Given the description of an element on the screen output the (x, y) to click on. 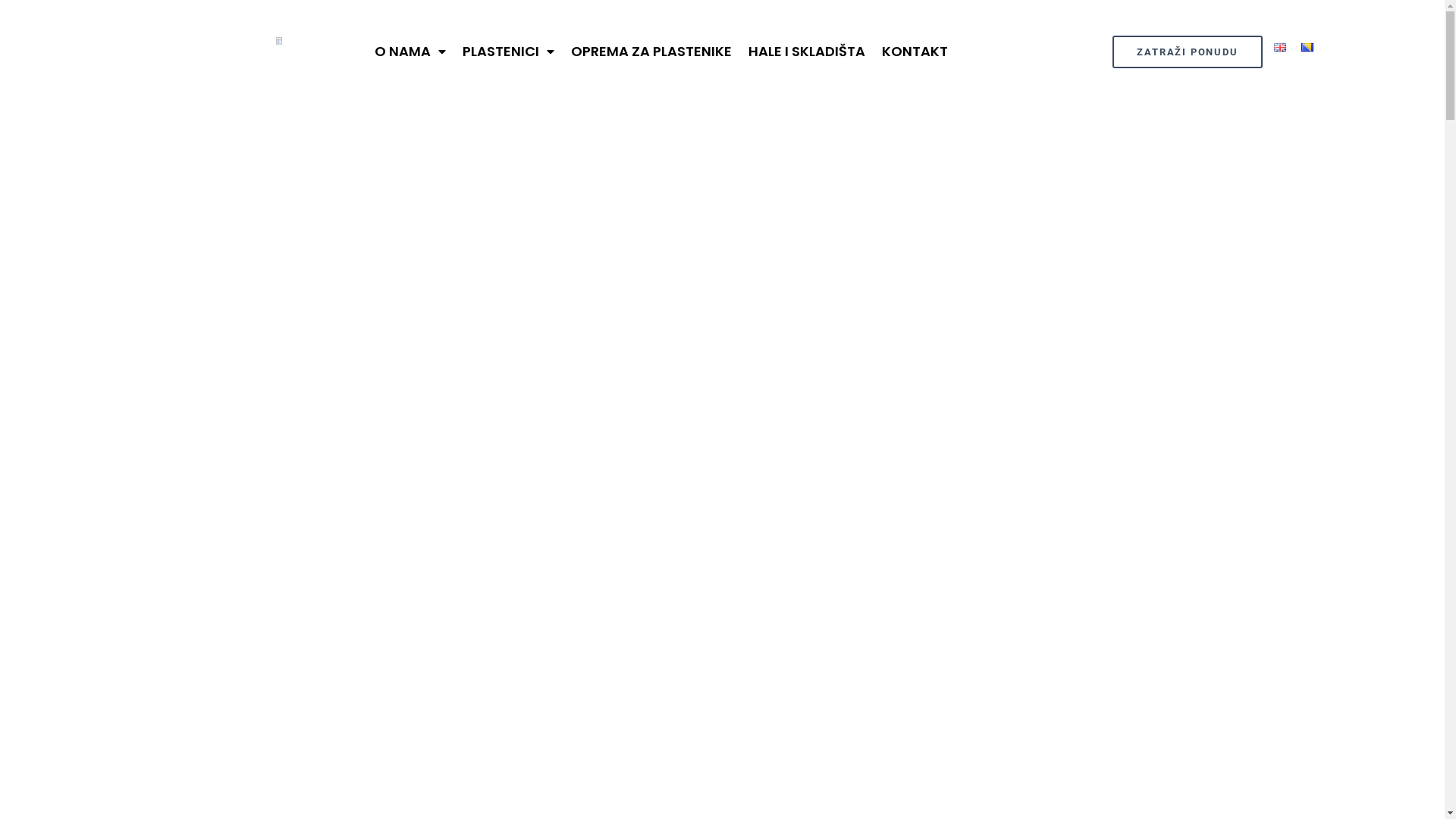
PLASTENICI Element type: text (508, 51)
OPREMA ZA PLASTENIKE Element type: text (651, 51)
KONTAKT Element type: text (914, 51)
O NAMA Element type: text (410, 51)
